Given the description of an element on the screen output the (x, y) to click on. 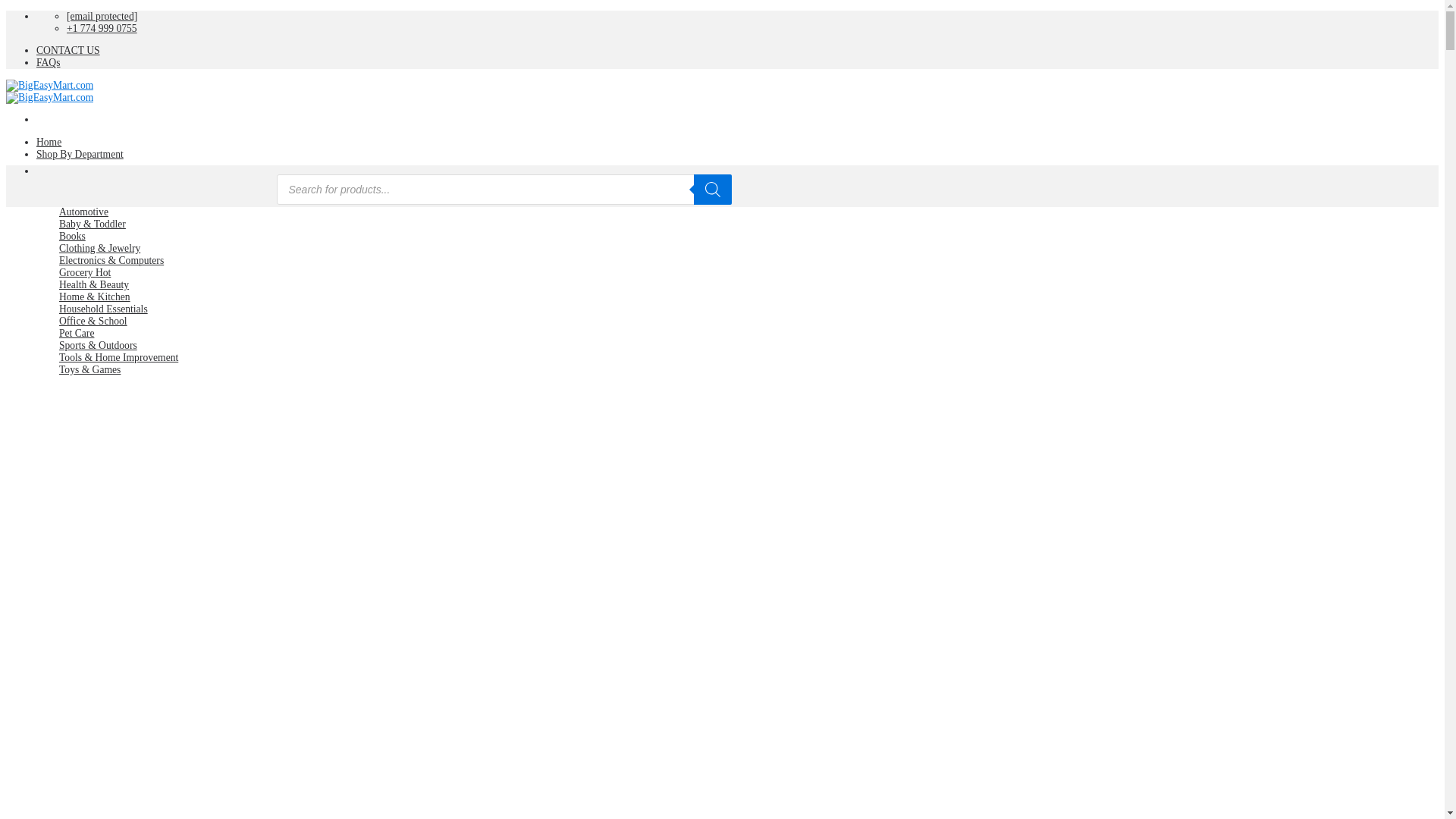
Shop By Department (79, 153)
Pet Care (76, 333)
Automotive (83, 211)
Grocery (84, 272)
wsf5u94ohiqdsnop8mfz.jpg (229, 713)
CONTACT US (68, 50)
Books (72, 235)
FAQs (47, 61)
Household Essentials (103, 308)
Home (48, 142)
